Given the description of an element on the screen output the (x, y) to click on. 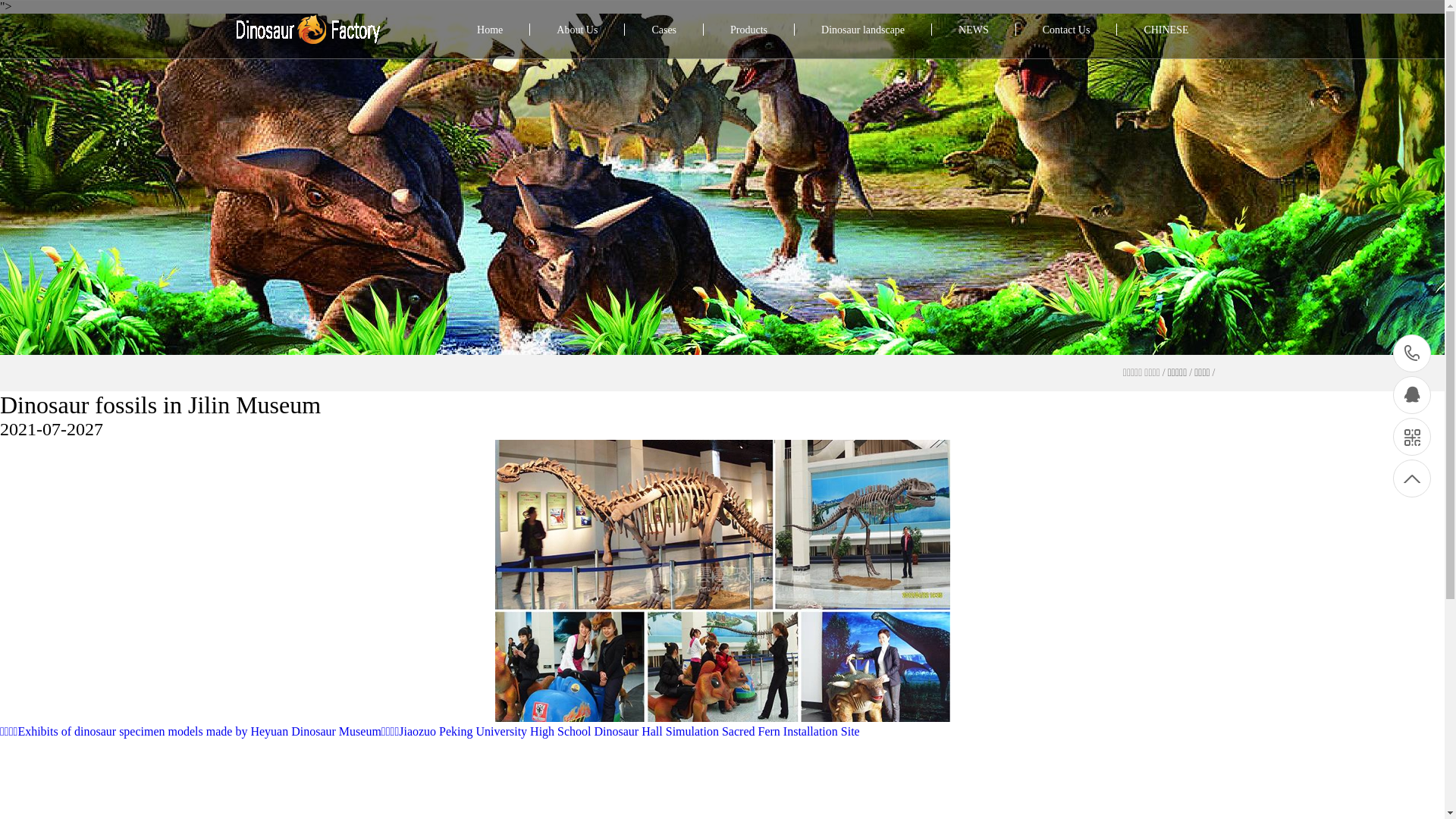
Cases Element type: text (663, 29)
Products Element type: text (748, 29)
NEWS Element type: text (973, 29)
Home Element type: text (489, 29)
Dinosaur landscape Element type: text (862, 29)
About Us Element type: text (576, 29)
Contact Us Element type: text (1066, 29)
consulting service Element type: hover (1411, 395)
CHINESE Element type: text (1165, 29)
Mobile QR code Element type: hover (1411, 436)
tel Element type: hover (1411, 353)
